Given the description of an element on the screen output the (x, y) to click on. 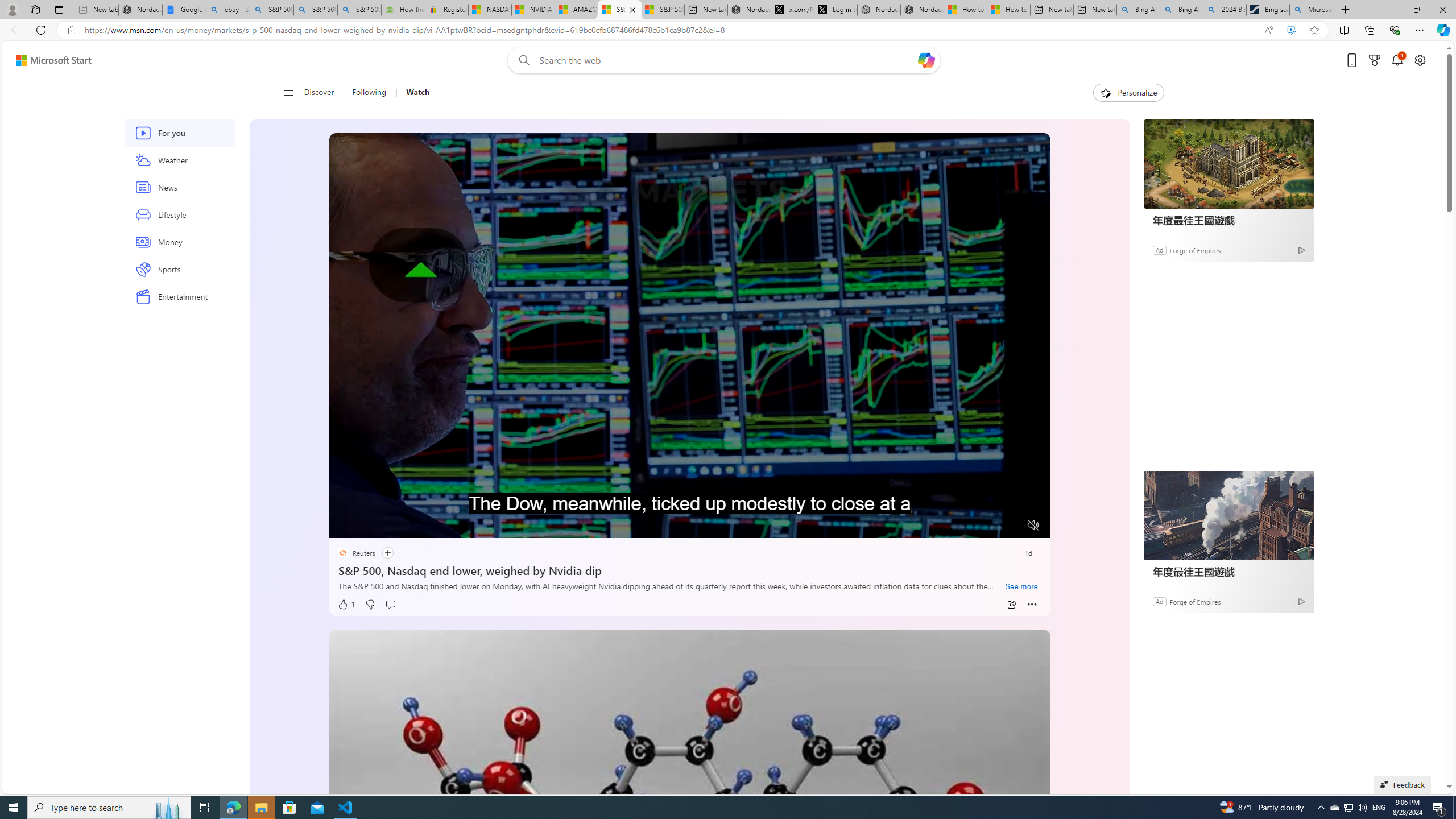
App bar (728, 29)
Class: button-glyph (287, 92)
To get missing image descriptions, open the context menu. (1105, 92)
Settings and more (Alt+F) (1419, 29)
Read aloud this page (Ctrl+Shift+U) (1268, 29)
New Tab (1346, 9)
Open Copilot (925, 59)
Fullscreen (1011, 525)
Watch (412, 92)
placeholder Reuters (355, 552)
Copilot (Ctrl+Shift+.) (1442, 29)
Seek Forward (391, 525)
Back (13, 29)
